Given the description of an element on the screen output the (x, y) to click on. 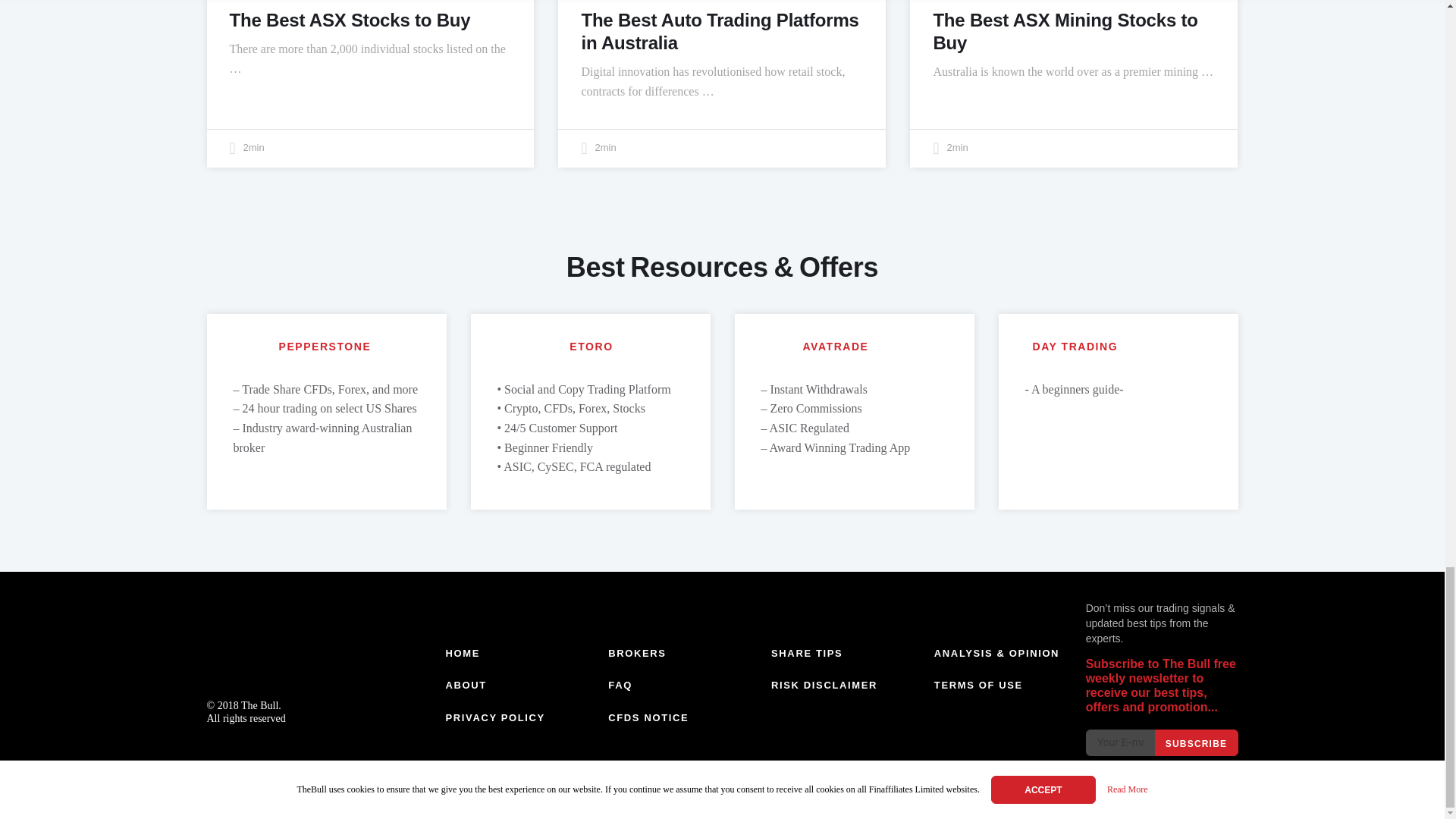
Subscribe (1195, 742)
The Best Auto Trading Platforms in Australia (719, 31)
The Best ASX Stocks to Buy (349, 19)
